Given the description of an element on the screen output the (x, y) to click on. 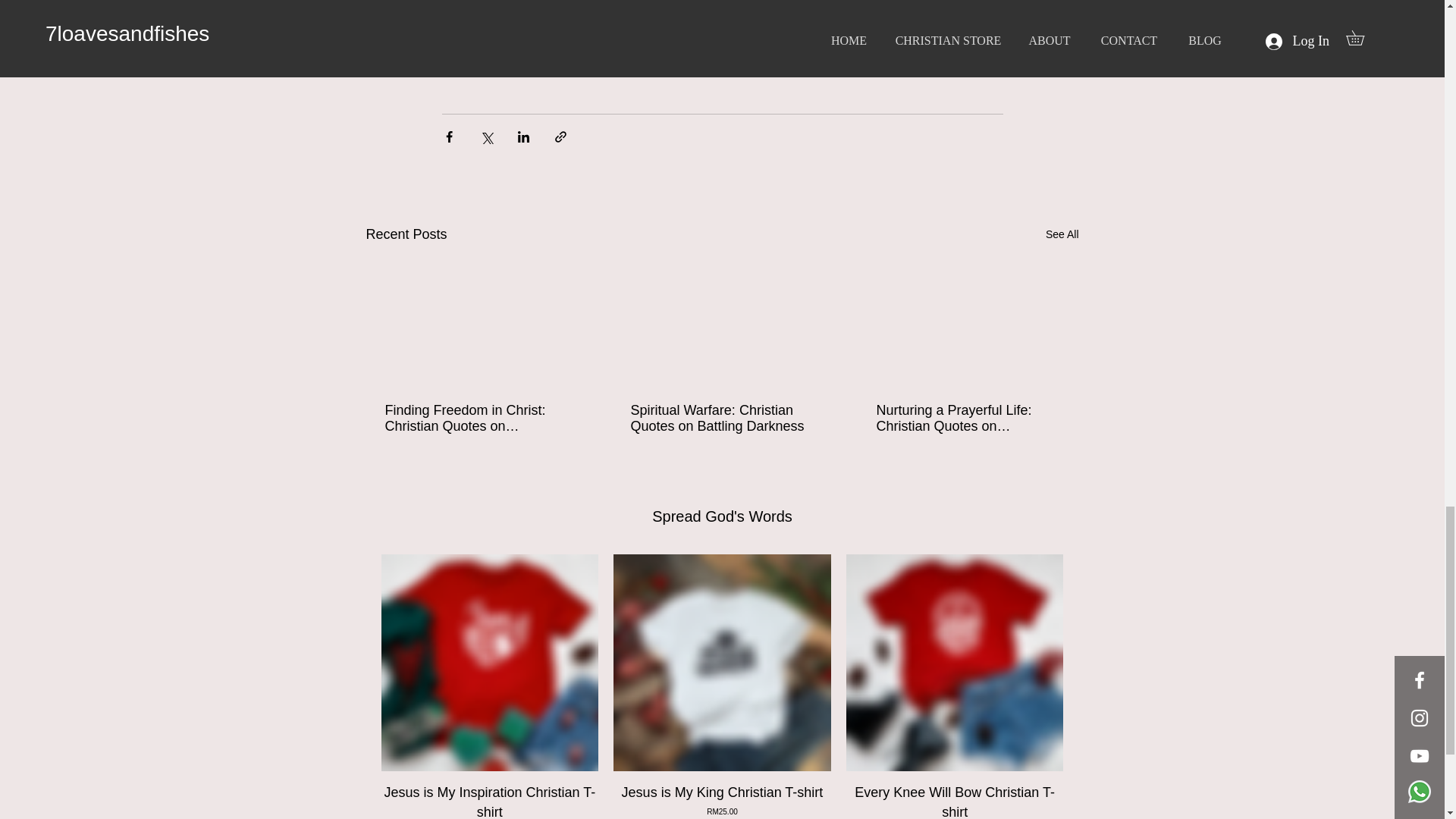
Finding Freedom in Christ: Christian Quotes on Liberation (476, 418)
Spiritual Warfare: Christian Quotes on Battling Darkness (721, 418)
See All (489, 800)
